Given the description of an element on the screen output the (x, y) to click on. 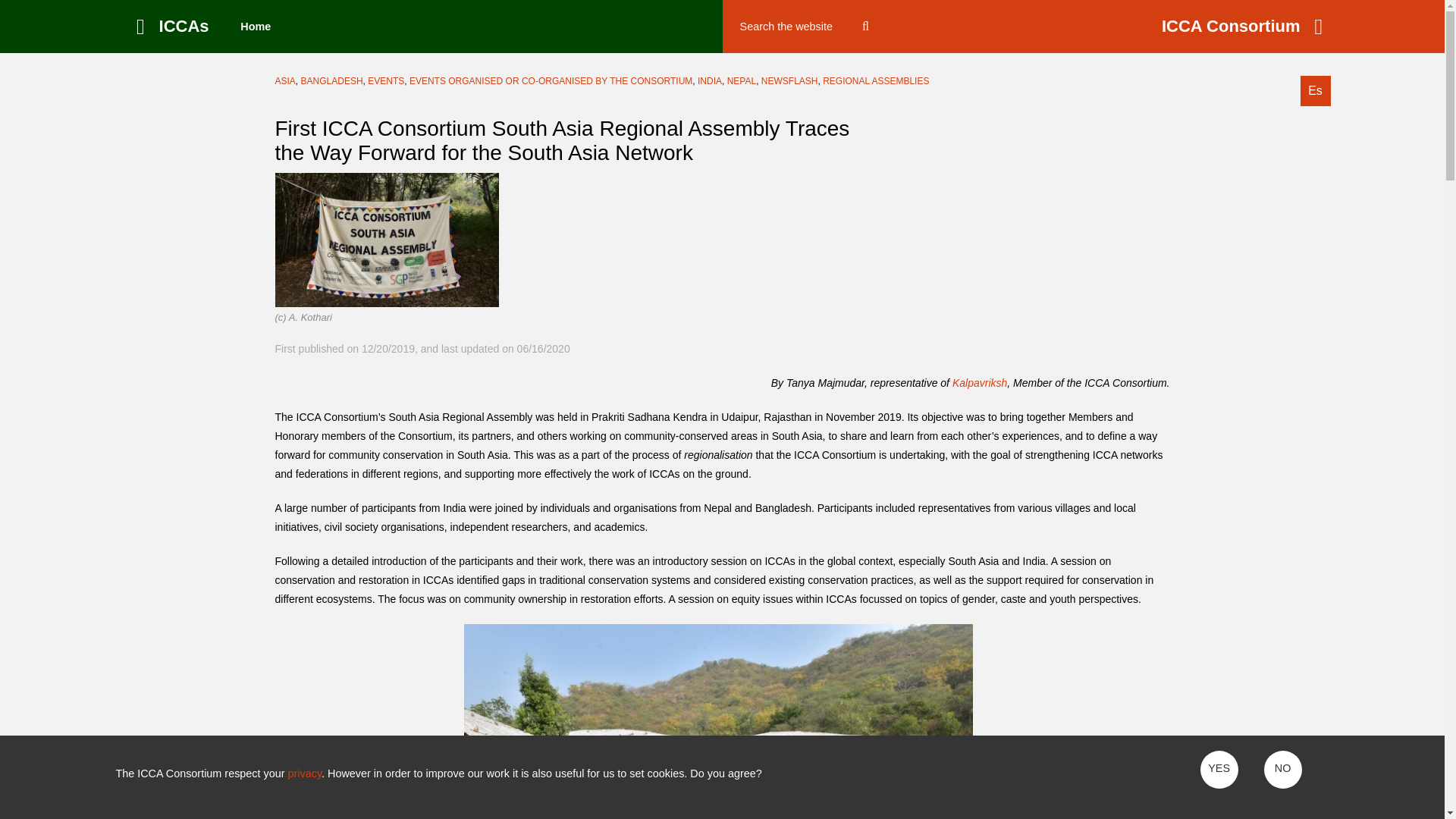
Bangladesh (331, 81)
Newsflash (789, 81)
Regional Assemblies (875, 81)
Events organised or co-organised by the consortium (551, 81)
Events (386, 81)
privacy (304, 773)
India (709, 81)
Nepal (740, 81)
Asia (285, 81)
